Given the description of an element on the screen output the (x, y) to click on. 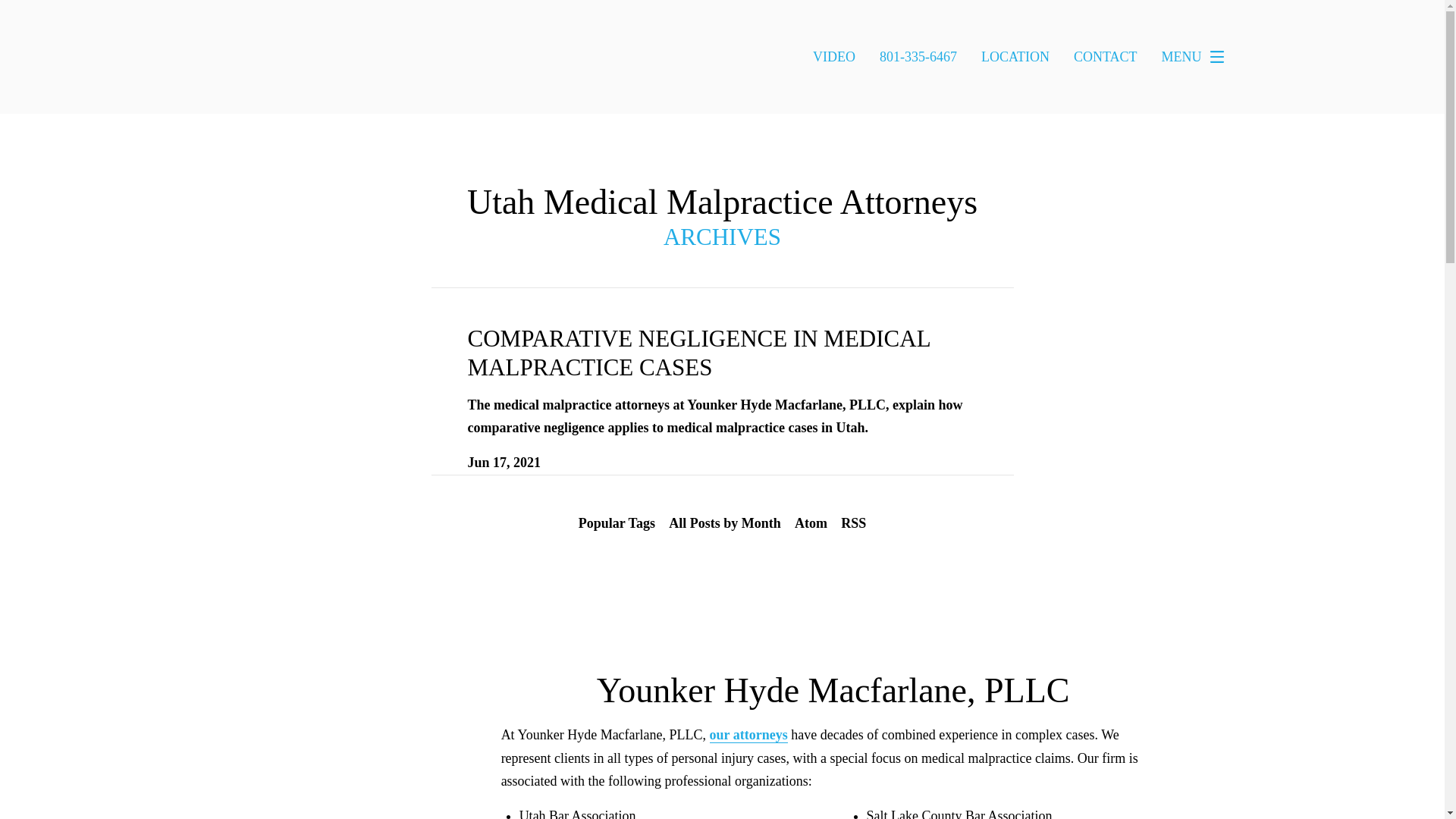
MENU (1196, 56)
Popular Tags (617, 523)
801-335-6467 (917, 56)
All Posts by Month (724, 523)
Atom (810, 523)
Call 801-335-6467 (917, 56)
VIDEO (834, 56)
LOCATION (1015, 56)
CONTACT (1105, 56)
our attorneys (748, 734)
RSS (853, 523)
